Given the description of an element on the screen output the (x, y) to click on. 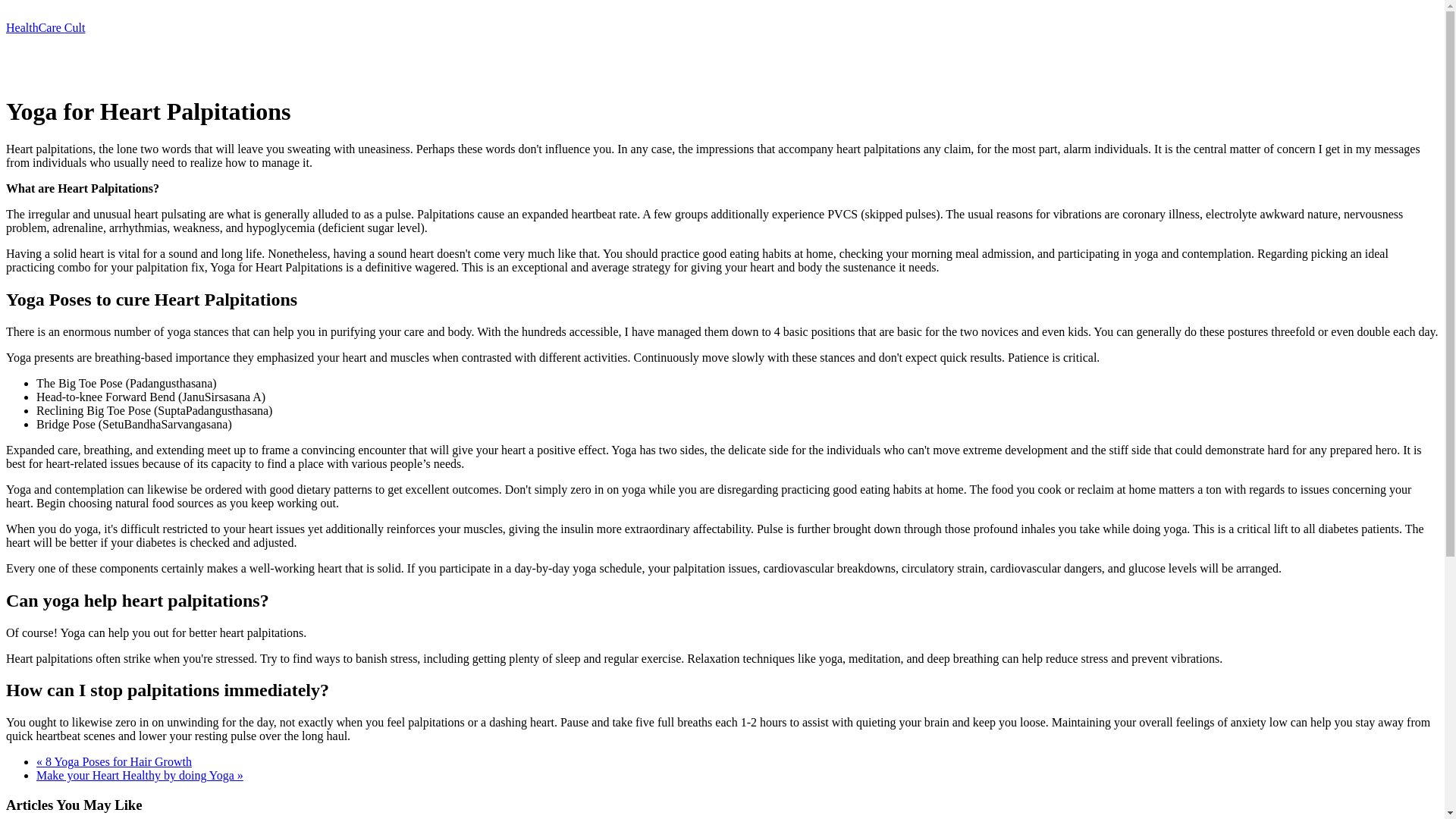
8 Yoga Poses for Hair Growth  (114, 761)
Make your Heart Healthy by doing Yoga (139, 775)
HealthCare Cult (44, 27)
